Given the description of an element on the screen output the (x, y) to click on. 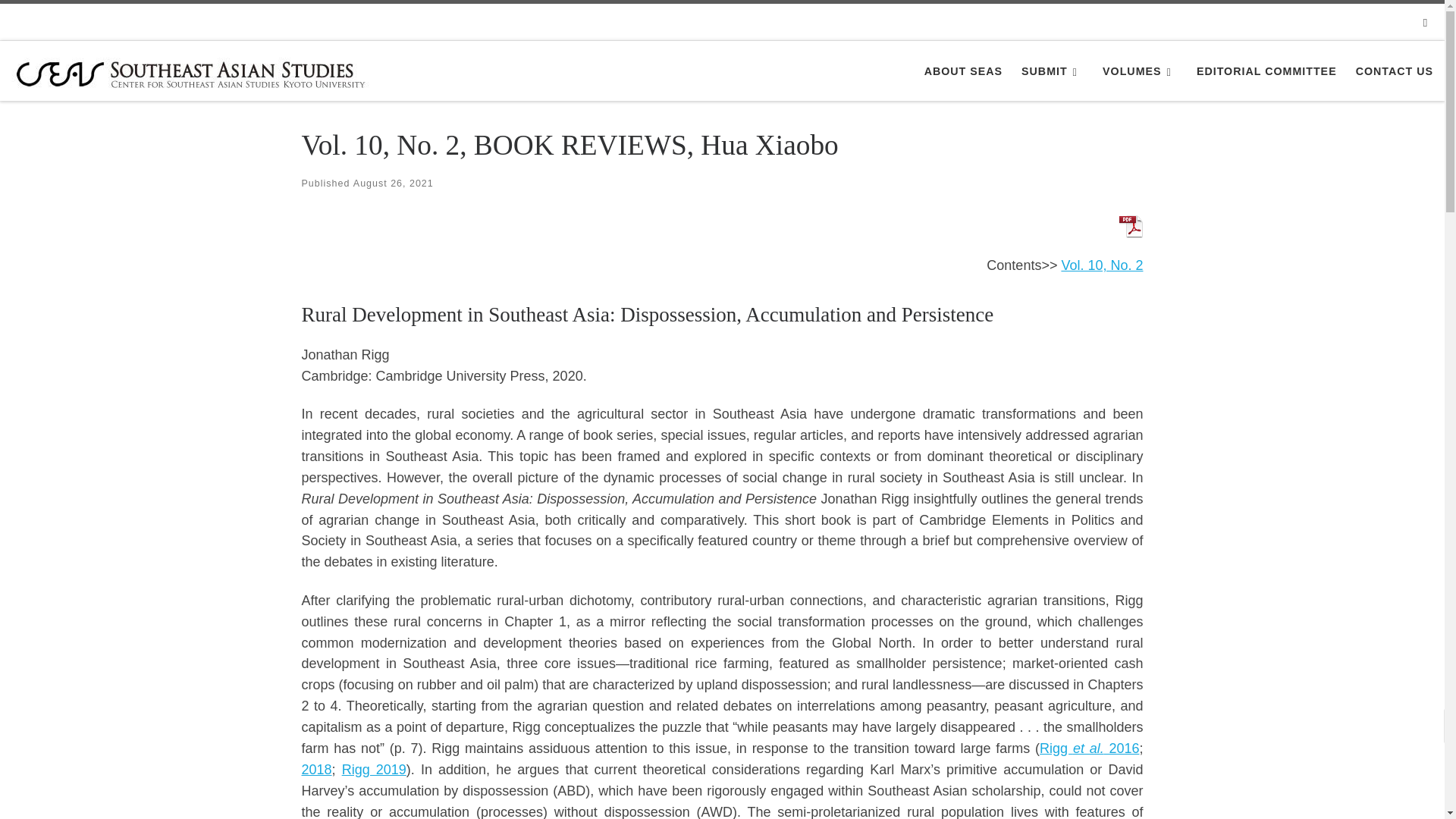
VOLUMES (1139, 70)
CONTACT US (1394, 70)
Skip to content (60, 20)
SUBMIT (1052, 70)
EDITORIAL COMMITTEE (1266, 70)
ABOUT SEAS (962, 70)
